Given the description of an element on the screen output the (x, y) to click on. 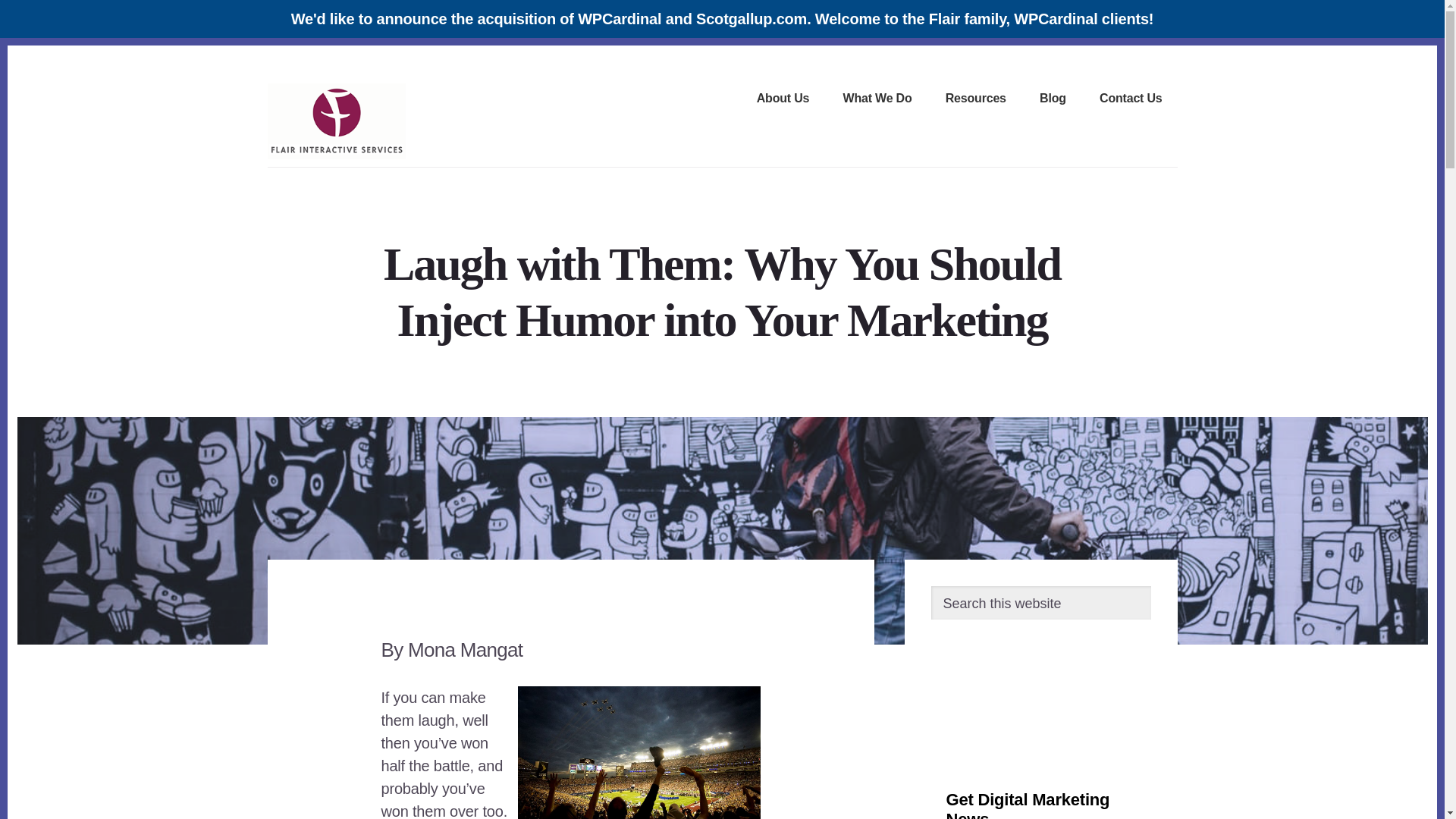
Contact Us (1130, 99)
Blog (1052, 99)
Resources (975, 99)
What We Do (877, 99)
About Us (783, 99)
